Given the description of an element on the screen output the (x, y) to click on. 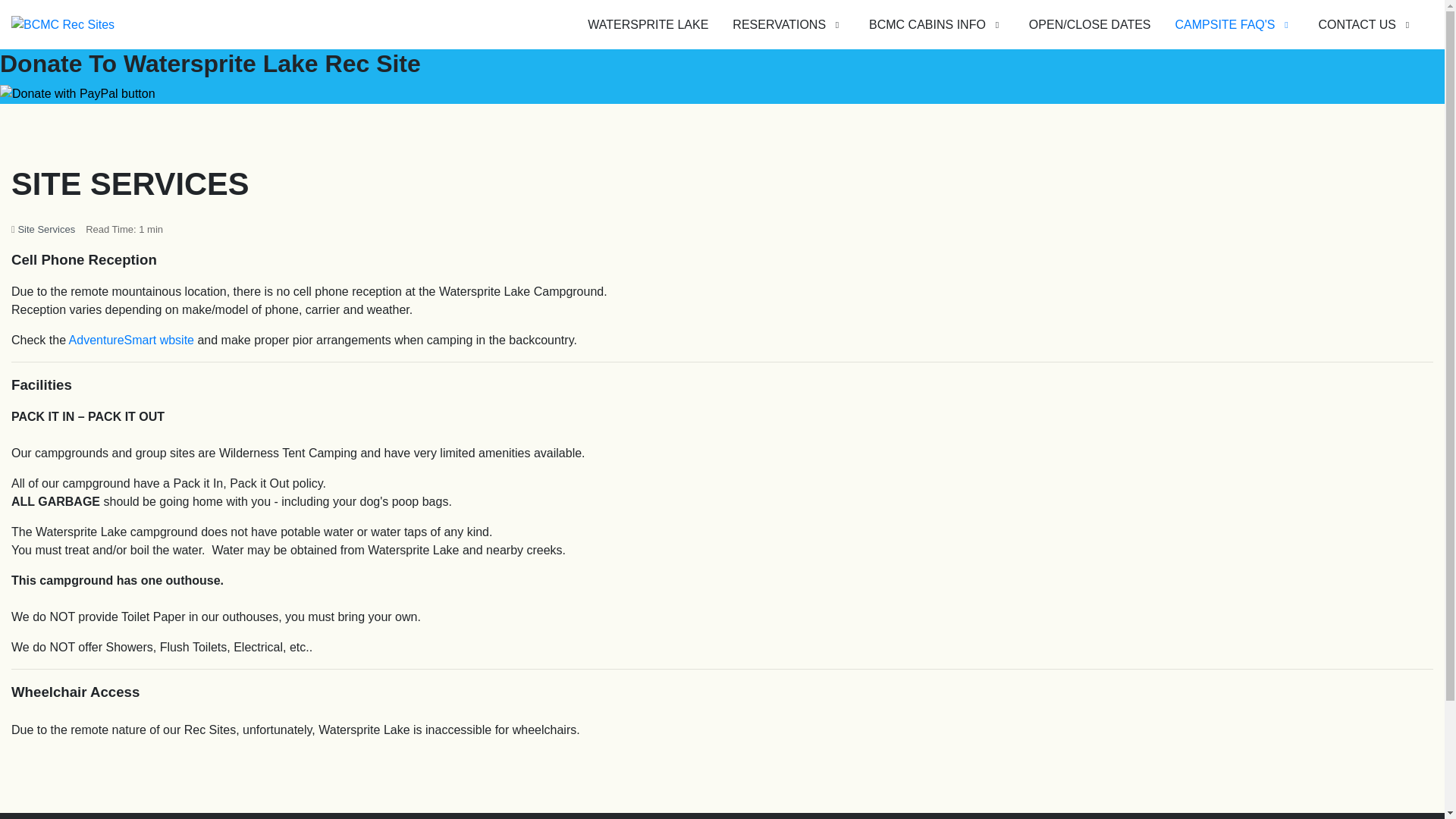
CONTACT US Element type: text (1366, 24)
WATERSPRITE LAKE Element type: text (647, 24)
CAMPSITE FAQ'S Element type: text (1234, 24)
RESERVATIONS Element type: text (788, 24)
OPEN/CLOSE DATES Element type: text (1089, 24)
BCMC CABINS INFO Element type: text (936, 24)
AdventureSmart wbsite Element type: text (131, 339)
Site Services Element type: text (46, 229)
PayPal - The safer, easier way to pay online! Element type: hover (77, 93)
